Given the description of an element on the screen output the (x, y) to click on. 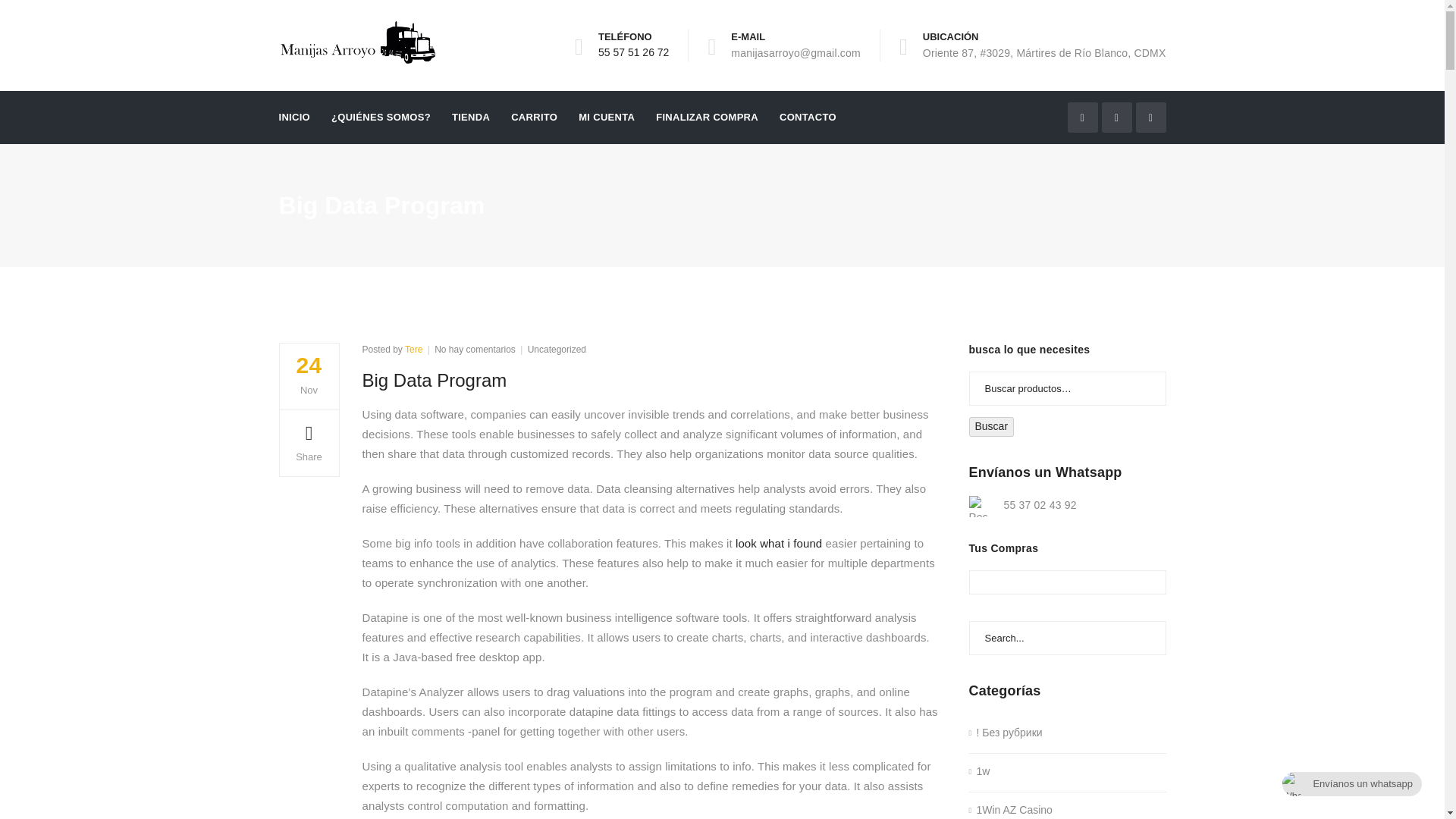
CONTACTO (806, 117)
Buscar (991, 426)
1w (979, 771)
Tere (474, 348)
look what i found (413, 348)
FINALIZAR COMPRA (778, 543)
Uncategorized (707, 117)
1Win AZ Casino (556, 348)
55 57 51 26 72 (1010, 810)
MI CUENTA (633, 51)
